Given the description of an element on the screen output the (x, y) to click on. 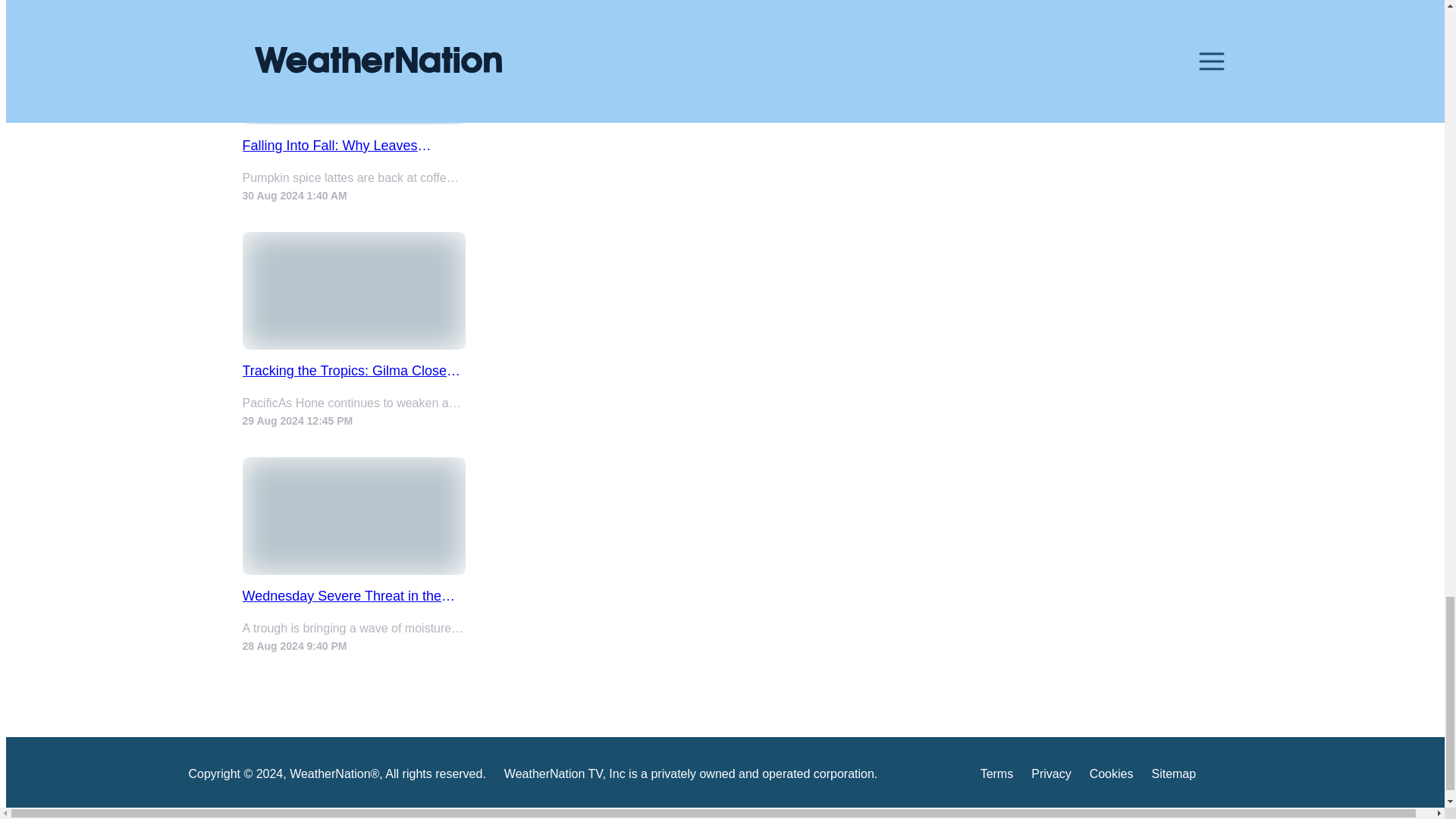
Terms (996, 776)
Sitemap (1173, 776)
Privacy (1050, 776)
Wednesday Severe Threat in the Northern Plains (354, 596)
Cookies (1111, 776)
Falling Into Fall: Why Leaves Change Color (354, 145)
